Given the description of an element on the screen output the (x, y) to click on. 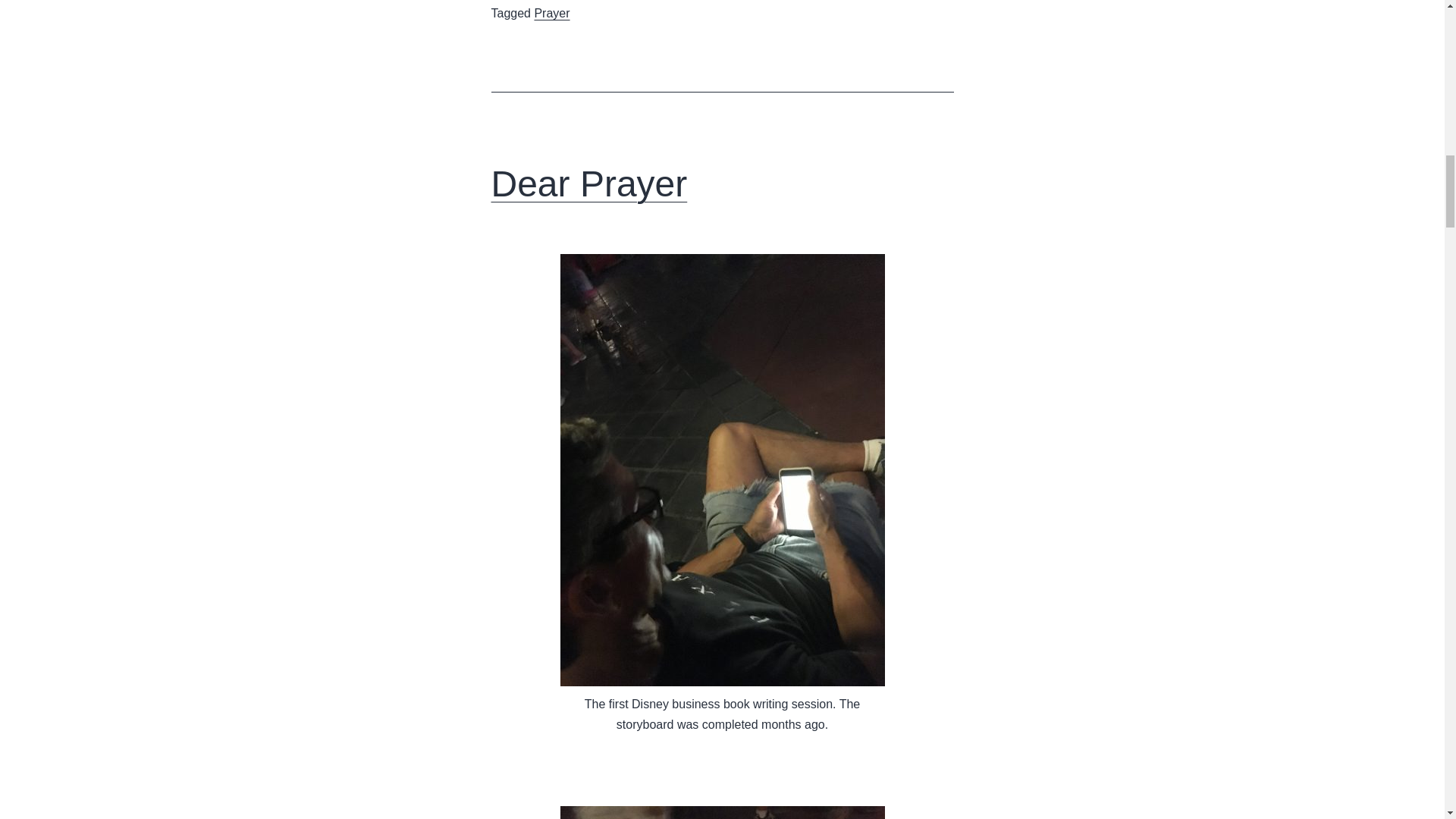
Dear Prayer (589, 183)
Prayer (551, 12)
